Given the description of an element on the screen output the (x, y) to click on. 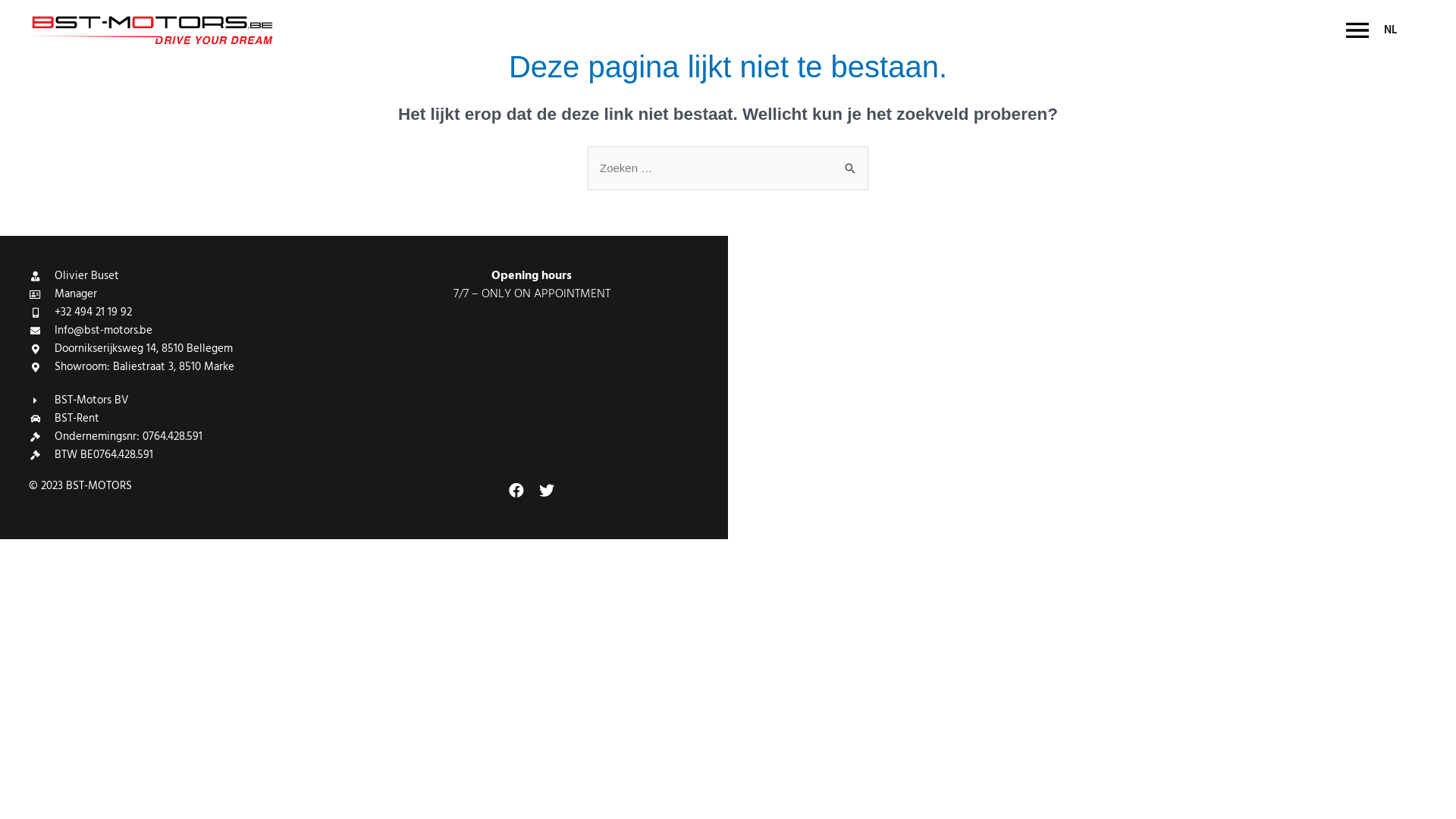
Baliestraat 3, 8510 Marke Element type: hover (1091, 386)
BST-Rent Element type: text (196, 418)
Twitter Element type: text (546, 490)
Zoeken Element type: text (851, 160)
NL Element type: text (1393, 29)
Facebook Element type: text (516, 490)
Info@bst-motors.be Element type: text (196, 330)
+32 494 21 19 92 Element type: text (196, 312)
